Given the description of an element on the screen output the (x, y) to click on. 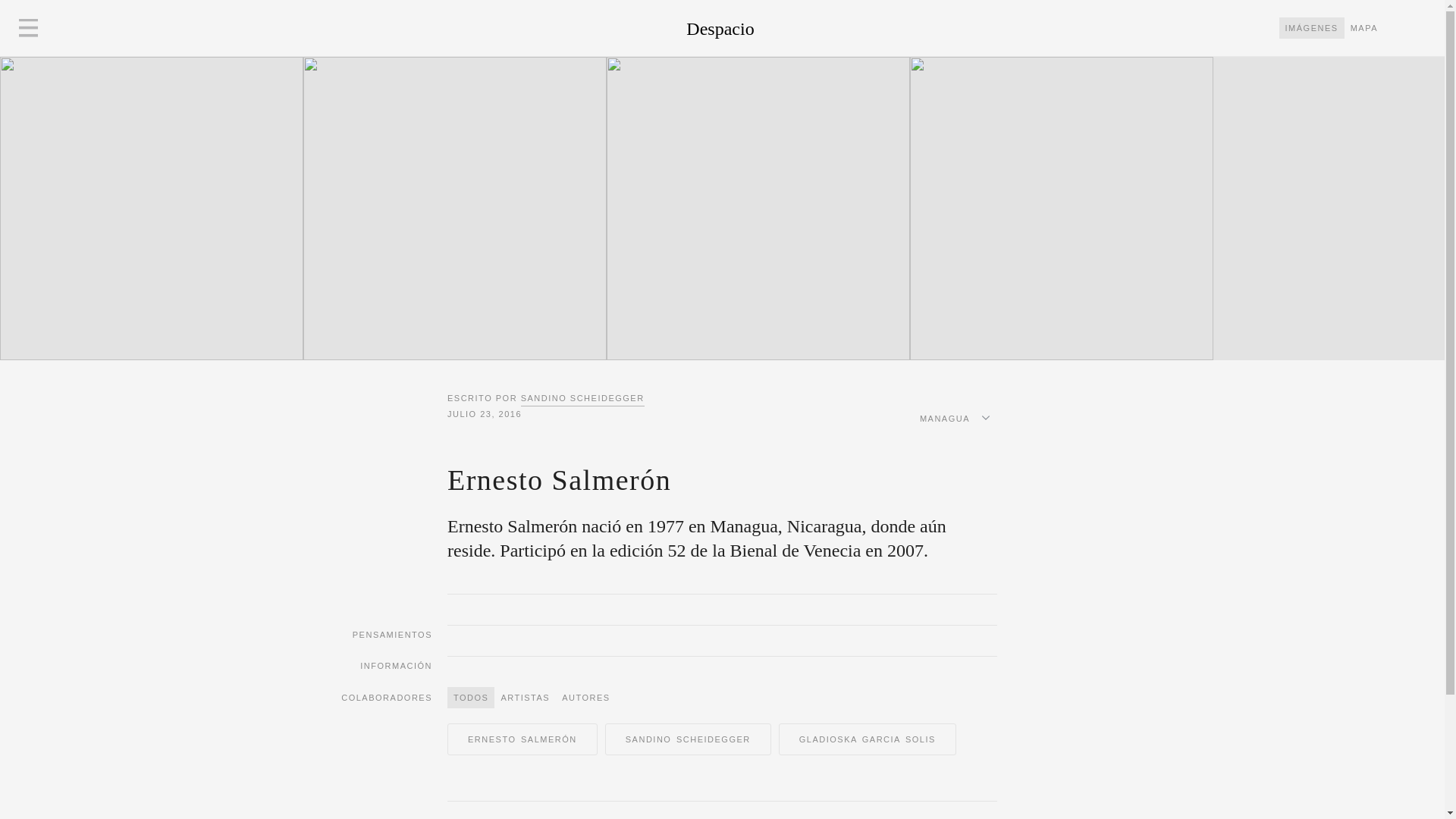
SANDINO SCHEIDEGGER (583, 398)
Despacio (693, 28)
SANDINO SCHEIDEGGER (687, 738)
GLADIOSKA GARCIA SOLIS (866, 738)
